Given the description of an element on the screen output the (x, y) to click on. 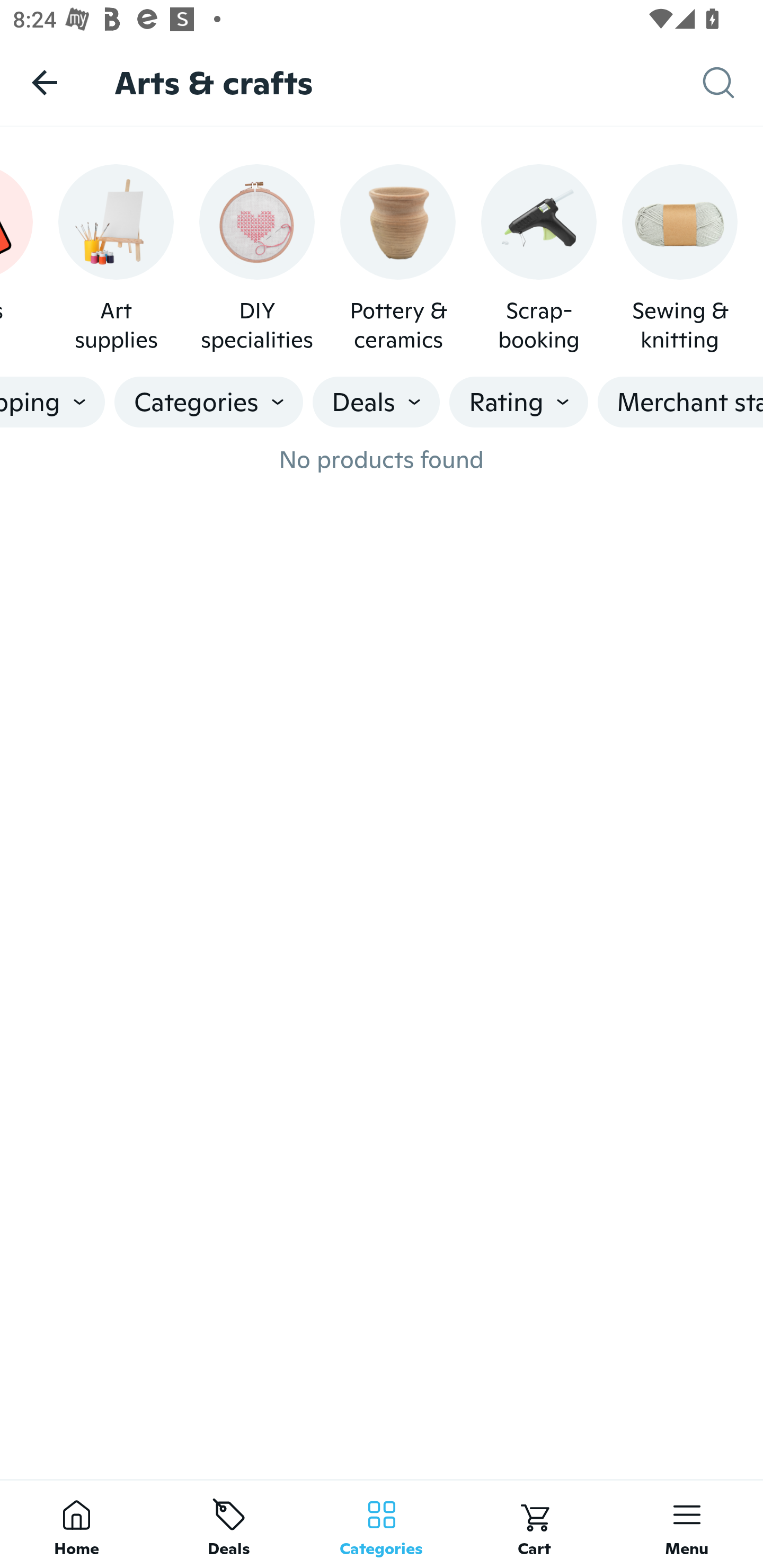
Navigate up (44, 82)
Search (732, 82)
Art supplies (115, 259)
DIY specialities (256, 259)
Pottery & ceramics (397, 259)
Scrapbooking (538, 259)
Sewing & knitting (679, 259)
Shipping (52, 402)
Categories (208, 402)
Deals (375, 402)
Rating (518, 402)
Merchant status (680, 402)
Home (76, 1523)
Deals (228, 1523)
Categories (381, 1523)
Cart (533, 1523)
Menu (686, 1523)
